Given the description of an element on the screen output the (x, y) to click on. 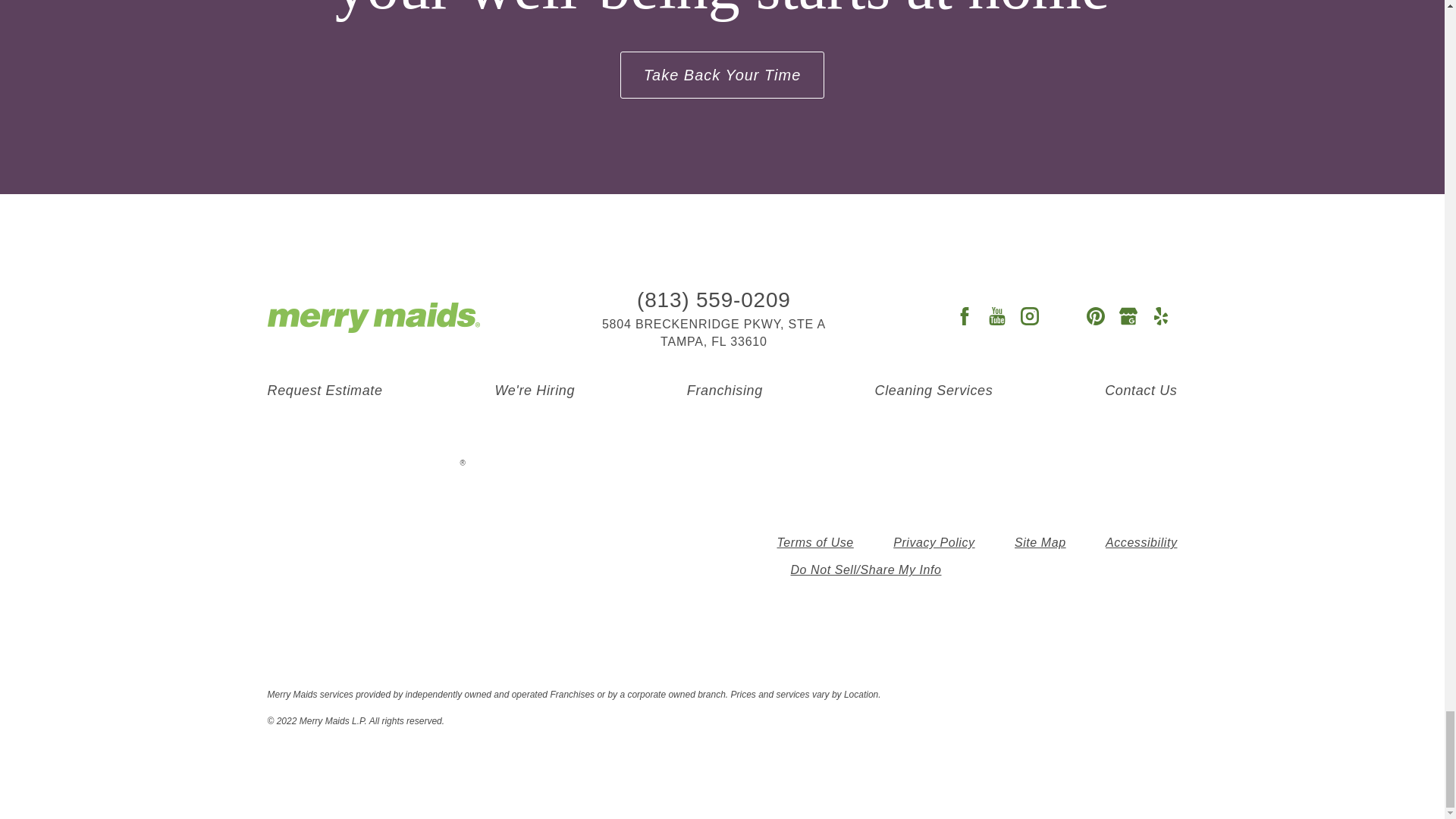
youtube-3 (996, 316)
Google My Business (1128, 316)
yelp (1160, 316)
pinterest (1095, 316)
instagram (1029, 316)
facebook (963, 316)
Merry Maids (372, 317)
twitter (1062, 316)
